Given the description of an element on the screen output the (x, y) to click on. 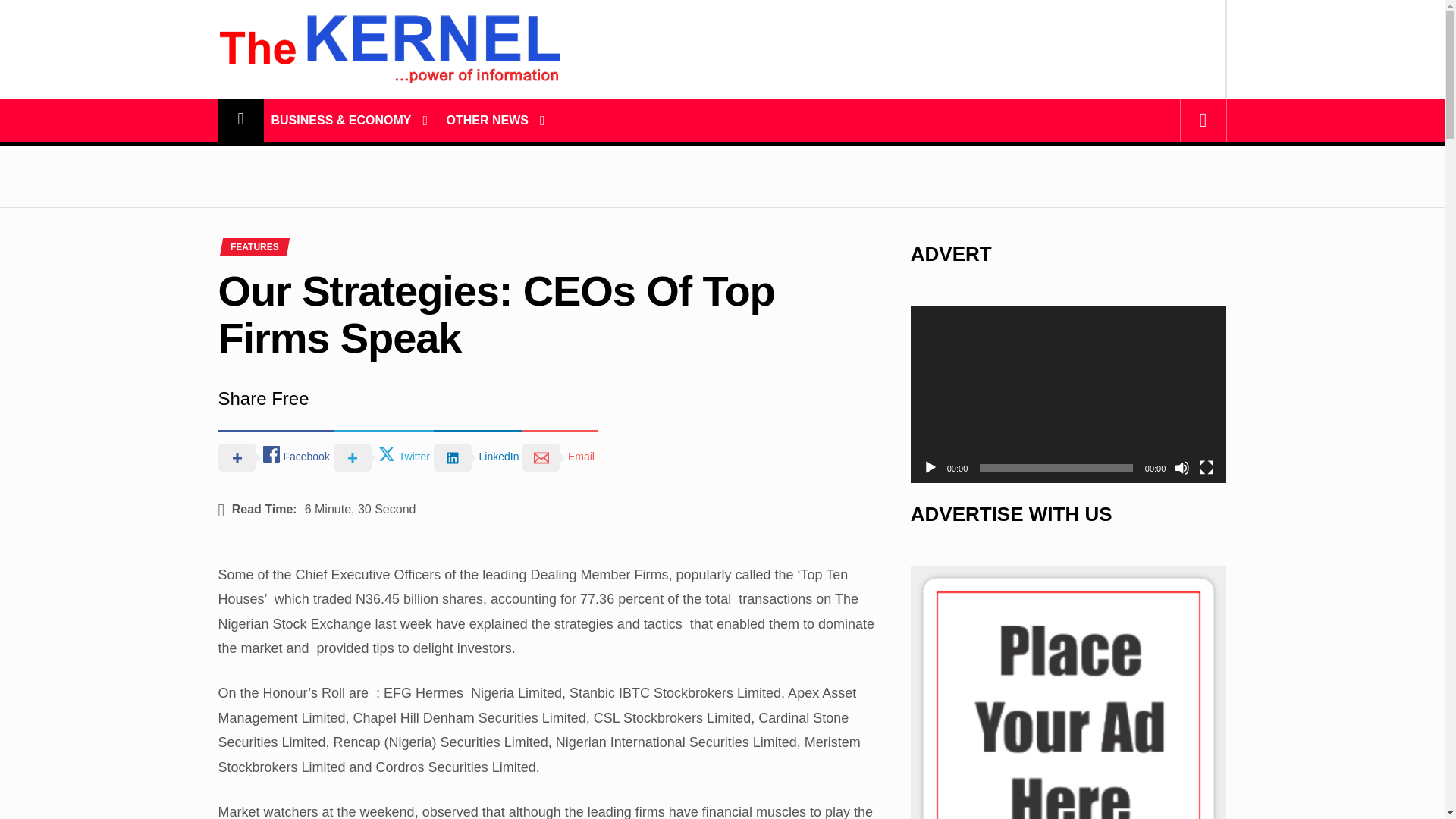
Mute (1181, 467)
Fullscreen (1206, 467)
OTHER NEWS (486, 119)
Email (559, 456)
FEATURES (254, 246)
Facebook (275, 456)
Home (240, 119)
LinkedIn (477, 456)
THE KERNEL ONLINE NEWSPAPER (388, 133)
Play (930, 467)
